Given the description of an element on the screen output the (x, y) to click on. 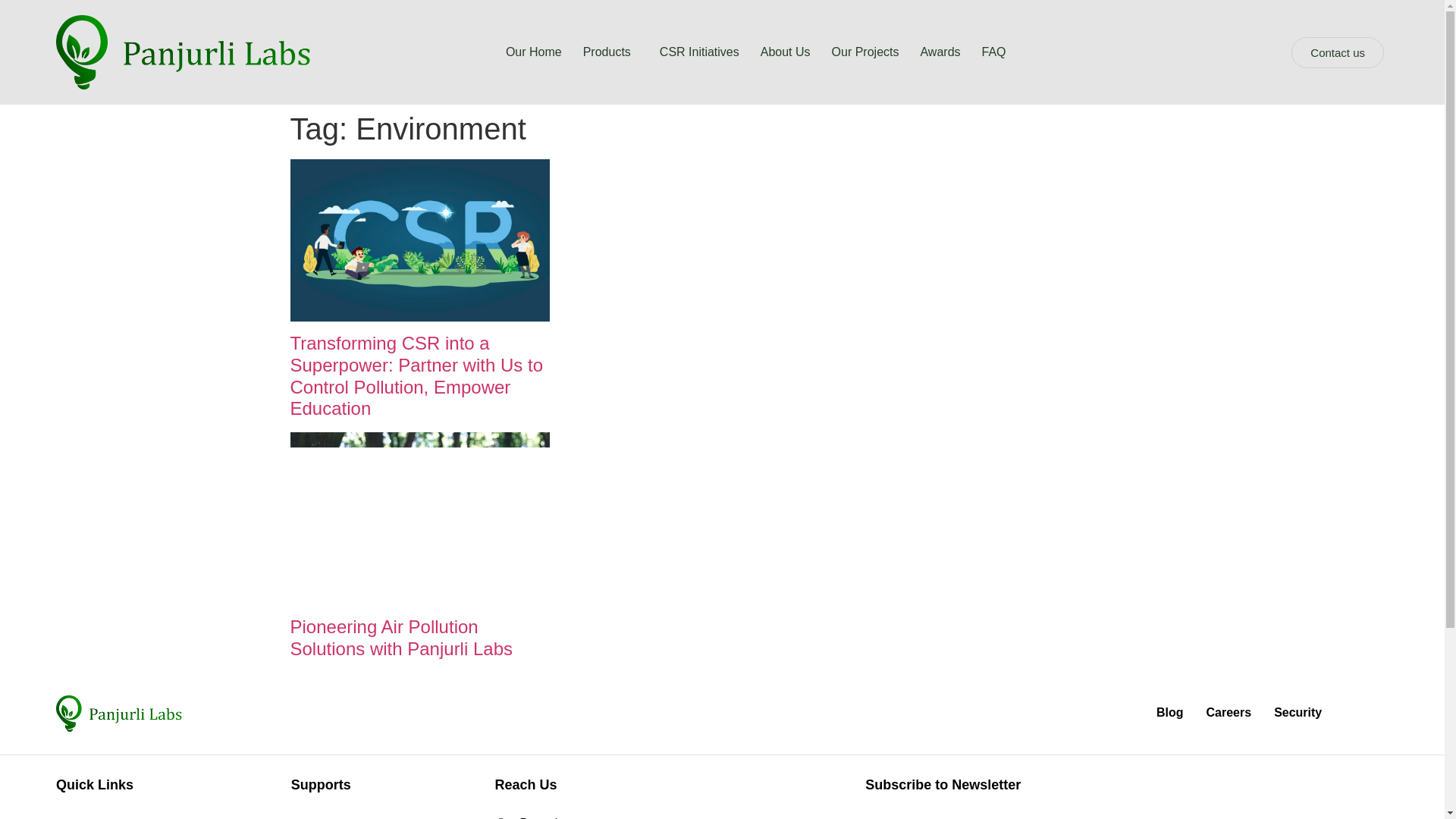
Awards (939, 52)
Products (610, 52)
CSR Initiatives (699, 52)
About Us (785, 52)
Our Projects (865, 52)
FAQ (993, 52)
Our Home (533, 52)
Contact us (1337, 51)
